Given the description of an element on the screen output the (x, y) to click on. 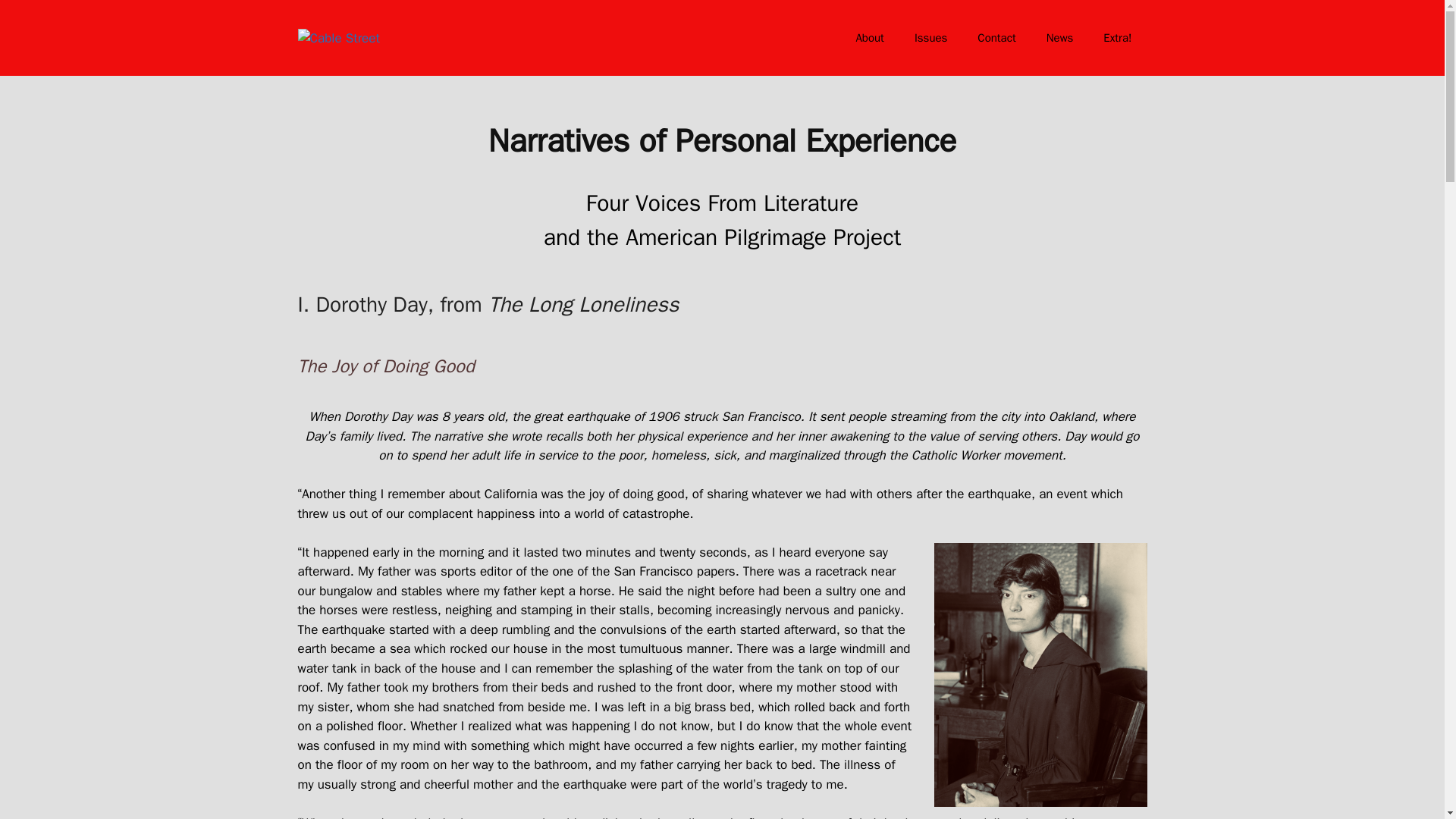
News (1059, 37)
Extra! (1117, 37)
About (869, 37)
Issues (930, 37)
Contact (996, 37)
